Given the description of an element on the screen output the (x, y) to click on. 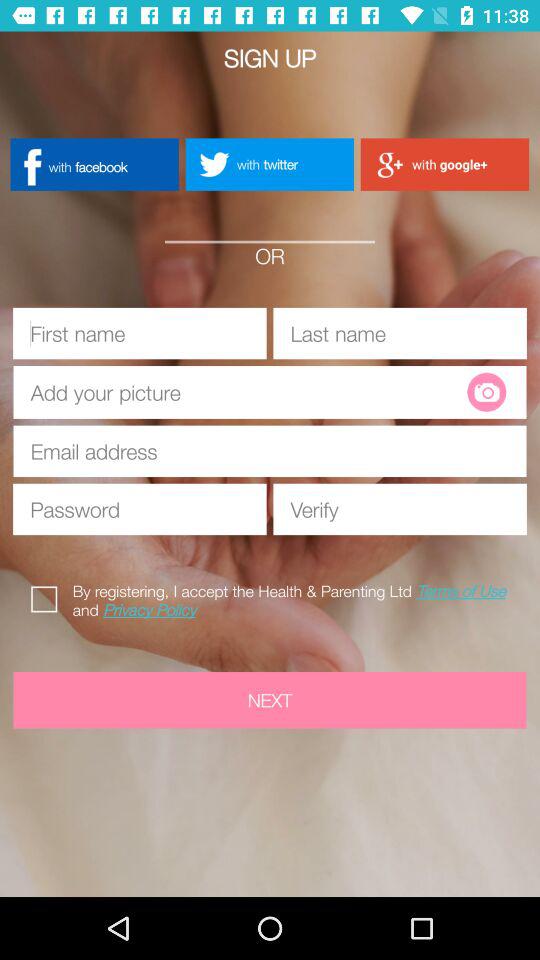
jump until next button (269, 699)
